Given the description of an element on the screen output the (x, y) to click on. 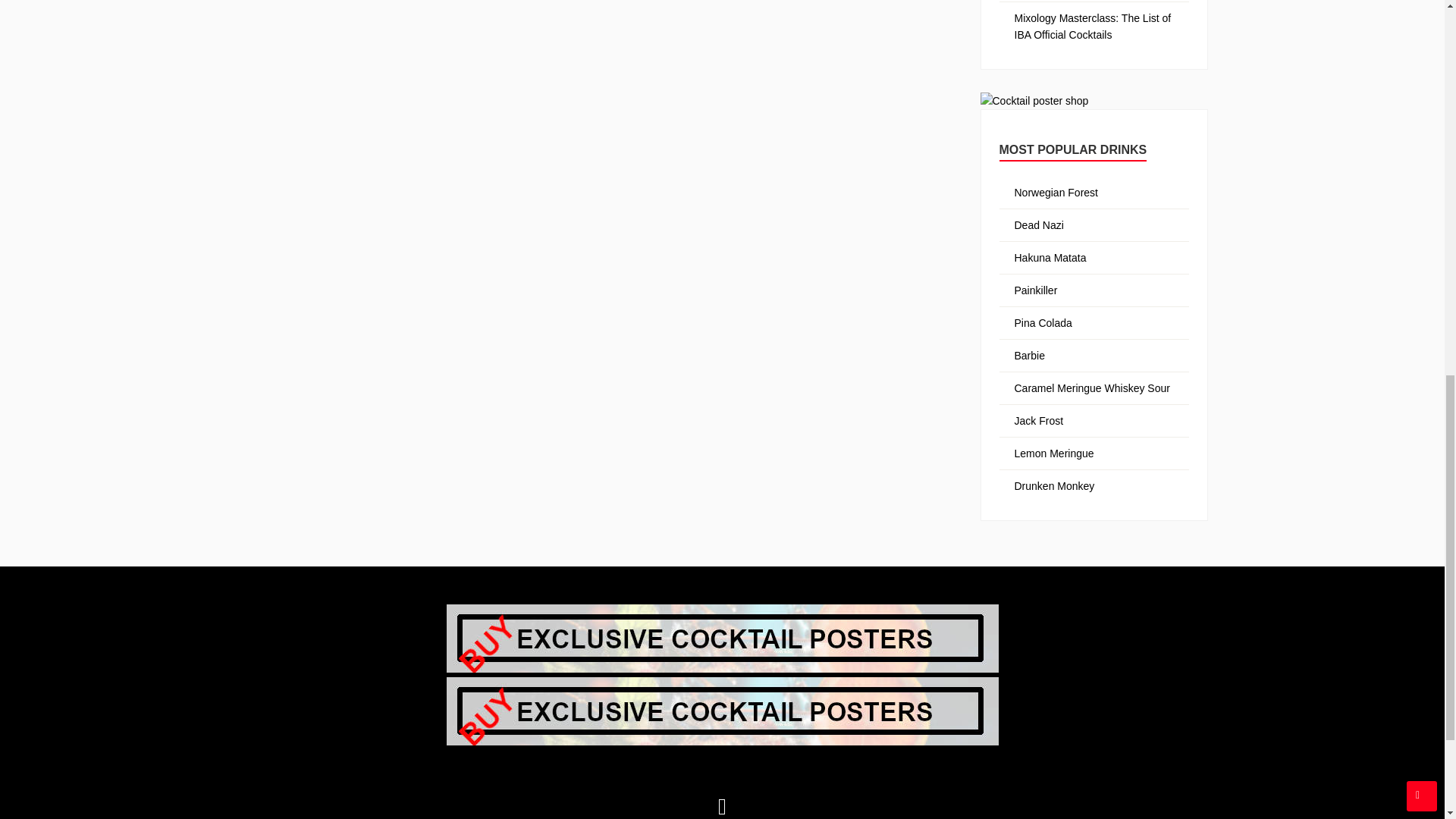
Lemon Meringue (1054, 453)
Pina Colada (1042, 322)
Norwegian Forest (1056, 192)
Hakuna Matata (1050, 257)
Drunken Monkey (1054, 485)
Dead Nazi (1039, 224)
Caramel Meringue Whiskey Sour (1092, 387)
Jack Frost (1039, 420)
Barbie (1029, 355)
Painkiller (1036, 290)
Mixology Masterclass: The List of IBA Official Cocktails (1093, 26)
